Given the description of an element on the screen output the (x, y) to click on. 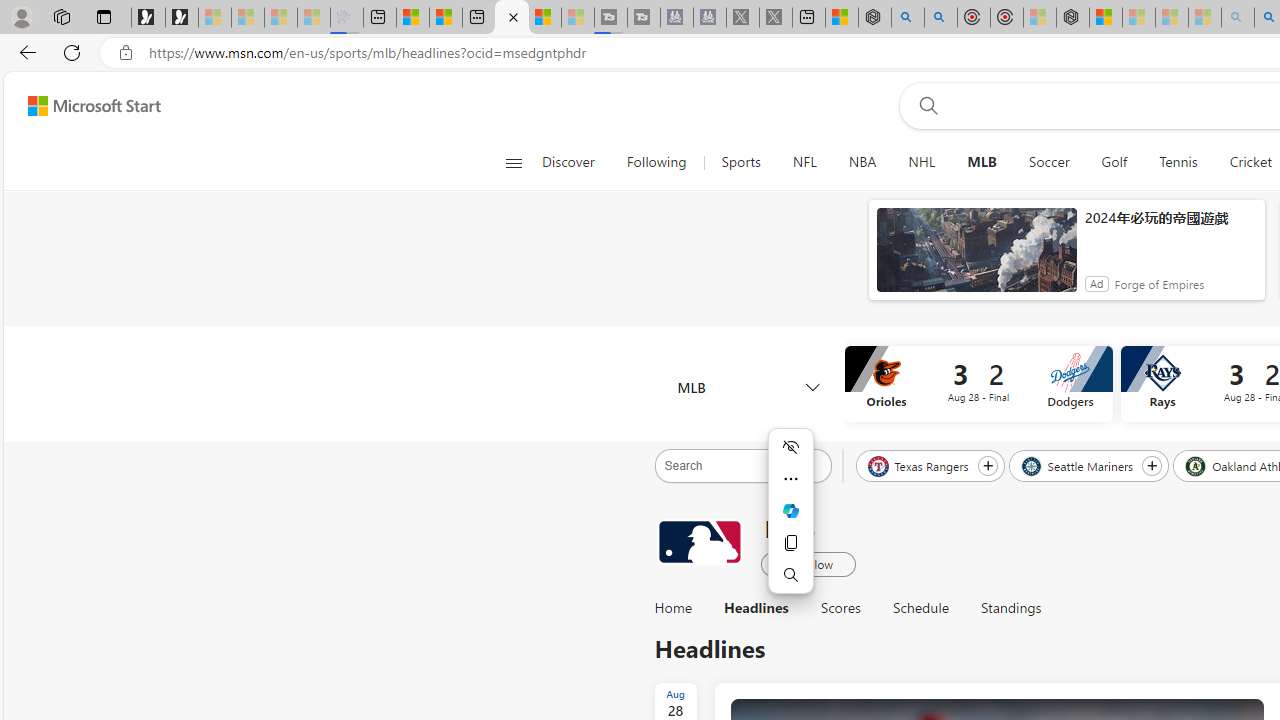
Follow Seattle Mariners (1152, 465)
Headlines (756, 607)
Skip to footer (82, 105)
Scores (839, 607)
Class: button-glyph (513, 162)
Headlines (756, 607)
MLB (699, 543)
anim-content (975, 258)
Cricket (1250, 162)
